Given the description of an element on the screen output the (x, y) to click on. 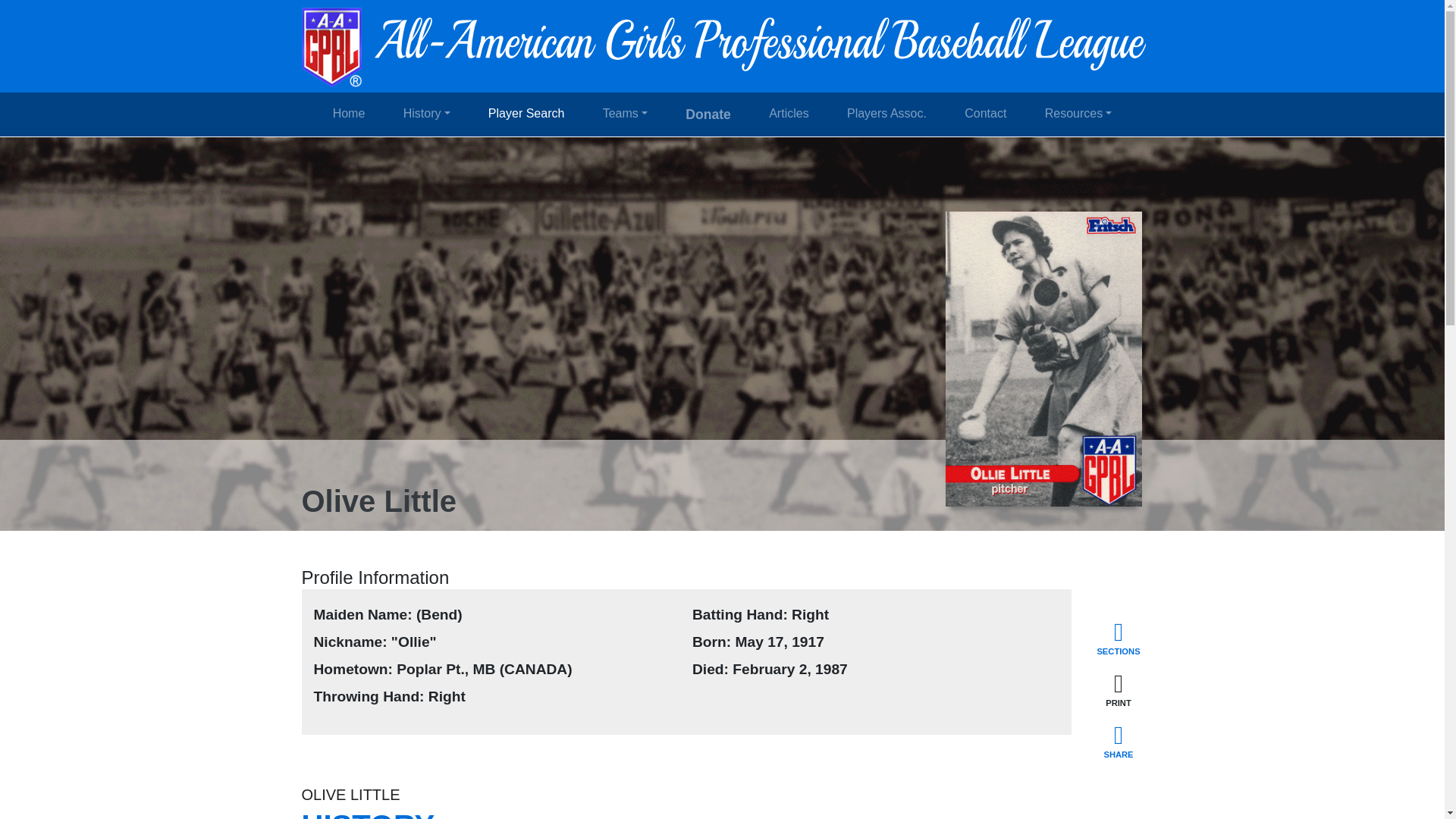
Social Sharing (1118, 741)
Contact (984, 113)
History (426, 113)
Home (349, 113)
Donate (707, 114)
Resources (1078, 113)
Players Assoc. (886, 113)
Player Search (525, 113)
Articles (788, 113)
Teams (624, 113)
Sections (1118, 638)
